Given the description of an element on the screen output the (x, y) to click on. 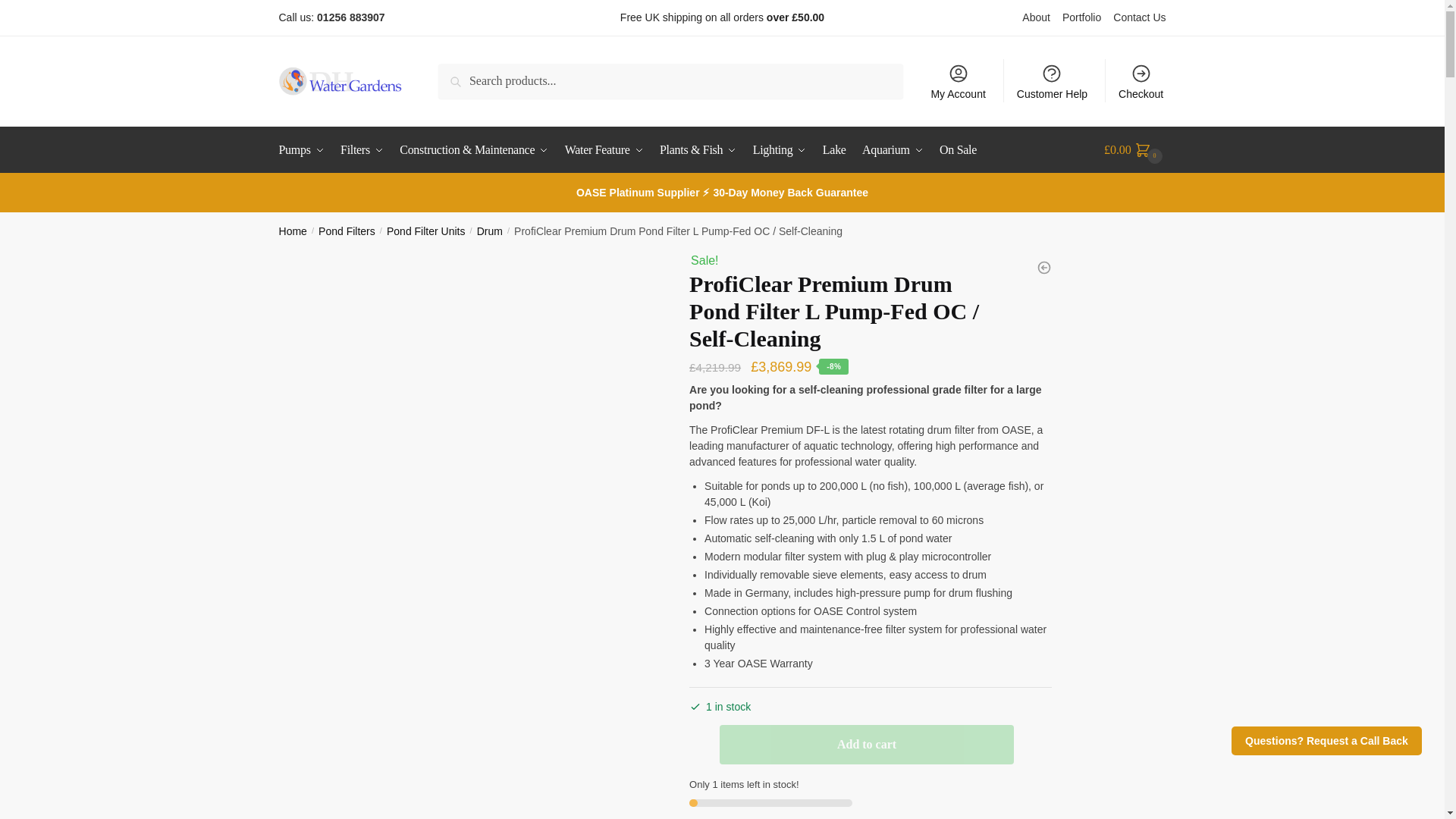
About (1042, 17)
Contact Us (1139, 17)
Checkout (1141, 80)
View your shopping cart (1134, 149)
Portfolio (1087, 17)
Search (473, 80)
My Account (957, 80)
01256 883907 (351, 17)
Pumps (304, 149)
Customer Help (1052, 80)
